Given the description of an element on the screen output the (x, y) to click on. 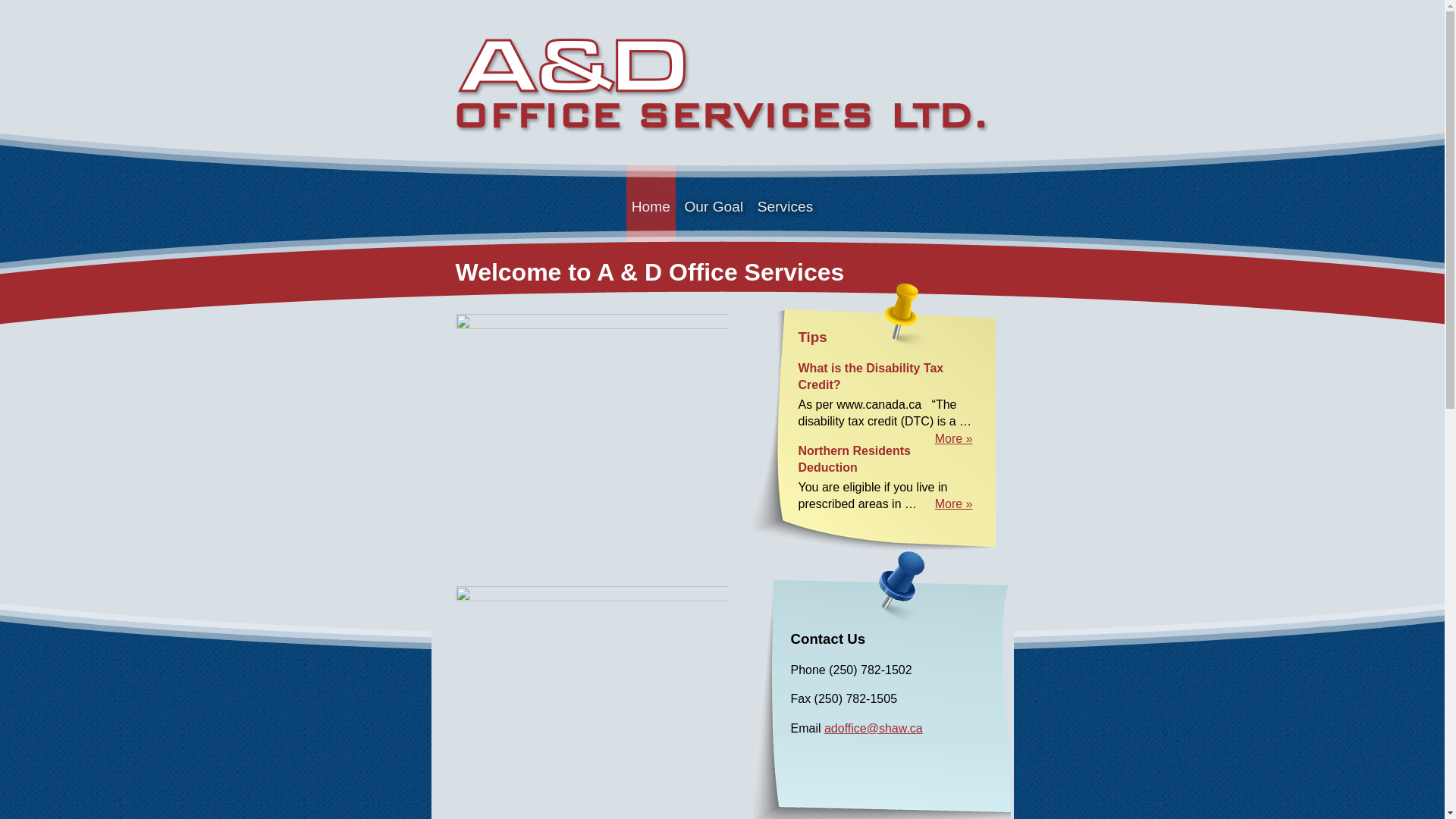
Our Goal Element type: text (713, 206)
Services Element type: text (785, 206)
adoffice@shaw.ca Element type: text (873, 727)
A & D Office Services Element type: hover (722, 83)
Northern Residents Deduction Element type: text (853, 458)
What is the Disability Tax Credit? Element type: text (870, 376)
Home Element type: text (650, 206)
A & D Office Services Element type: hover (722, 88)
Tips Element type: text (811, 337)
